Given the description of an element on the screen output the (x, y) to click on. 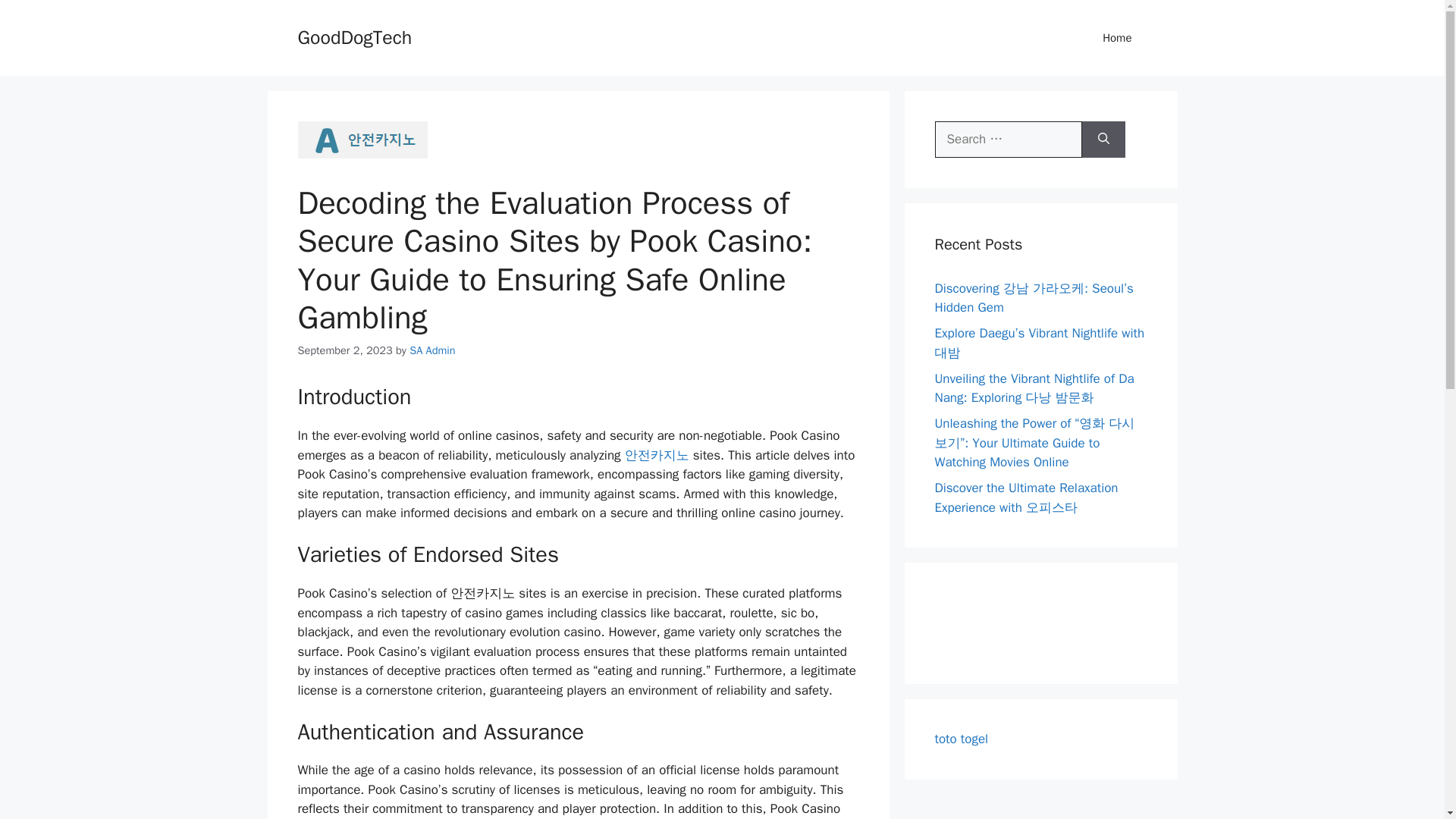
toto togel (961, 738)
View all posts by SA Admin (431, 350)
Search for: (1007, 139)
GoodDogTech (354, 37)
SA Admin (431, 350)
Home (1117, 37)
